Given the description of an element on the screen output the (x, y) to click on. 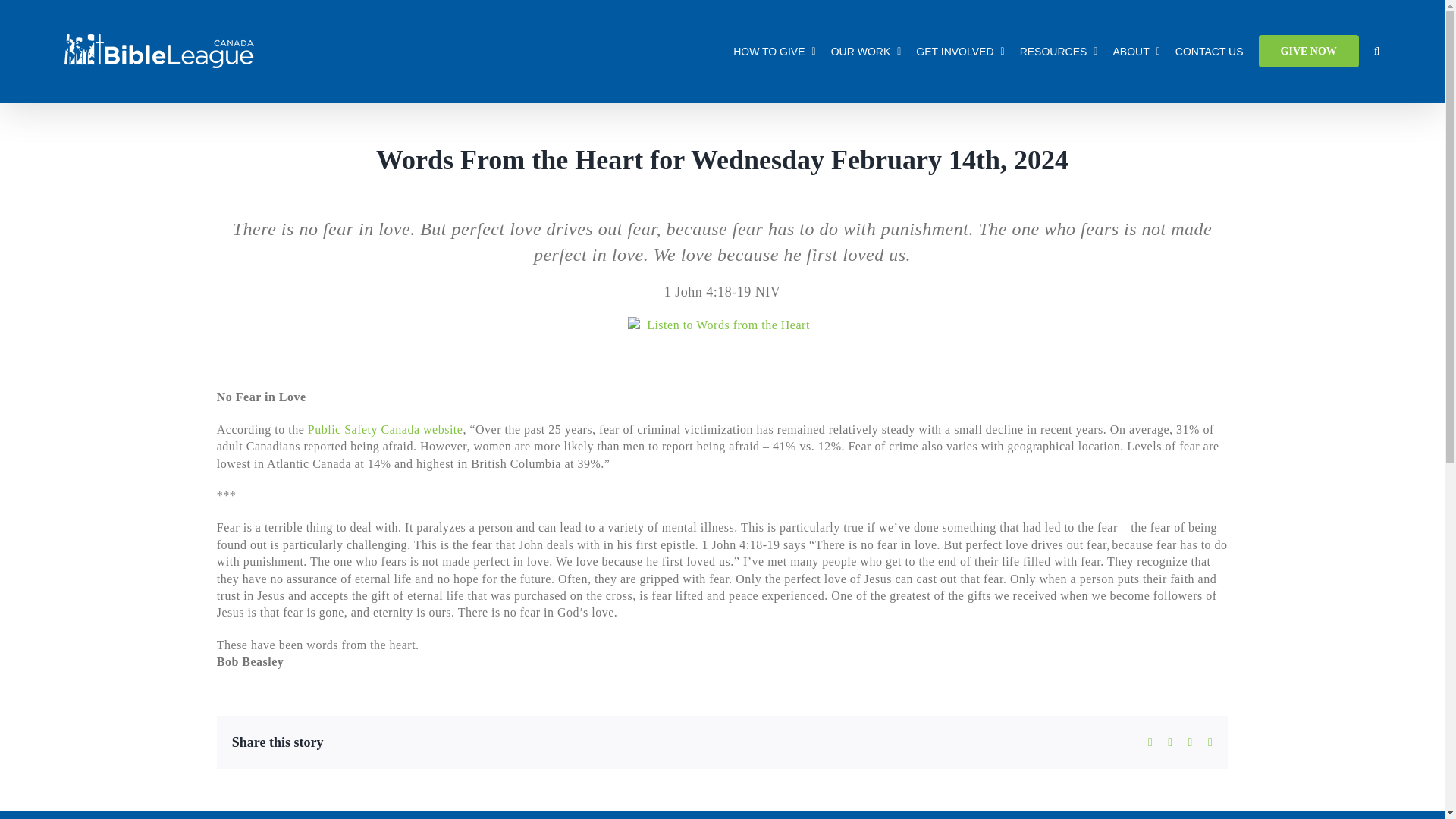
GET INVOLVED (959, 50)
RESOURCES (1058, 50)
GIVE NOW (1308, 50)
HOW TO GIVE (774, 50)
